Given the description of an element on the screen output the (x, y) to click on. 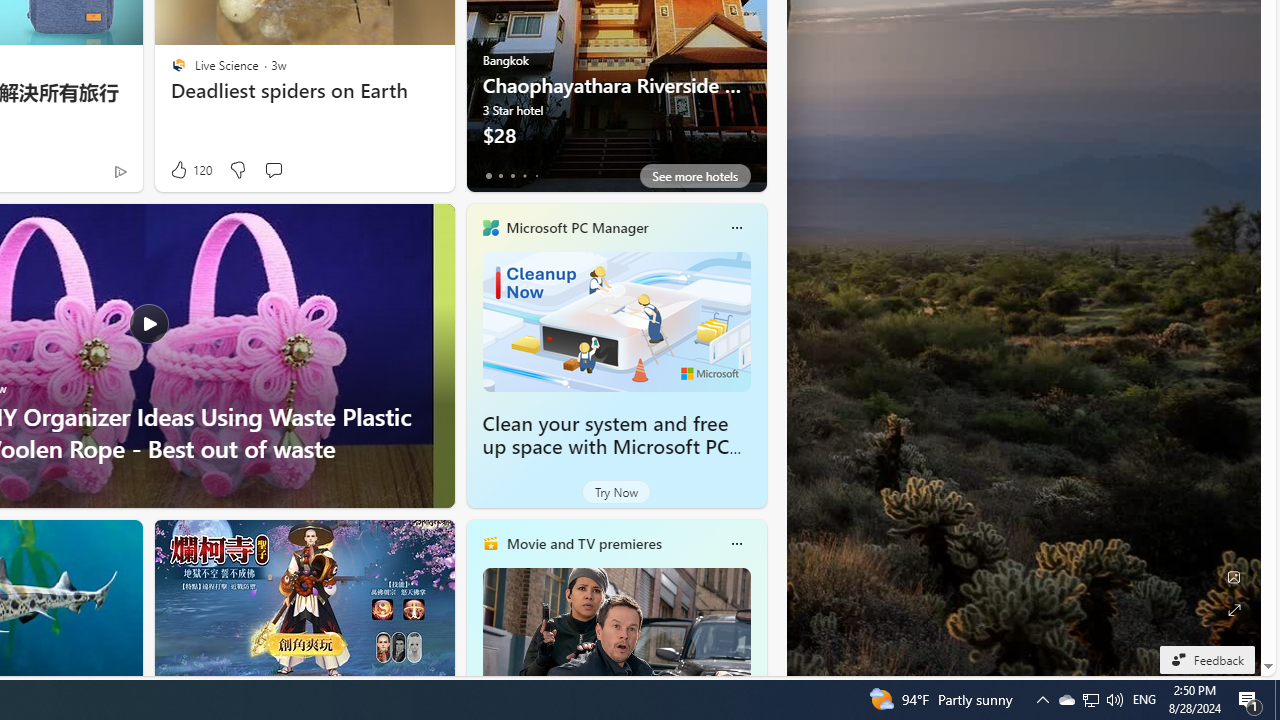
See more hotels (694, 175)
Microsoft PC Manager (576, 227)
Movie and TV premieres (583, 543)
tab-2 (511, 175)
Try Now (616, 491)
tab-4 (535, 175)
120 Like (190, 170)
